Given the description of an element on the screen output the (x, y) to click on. 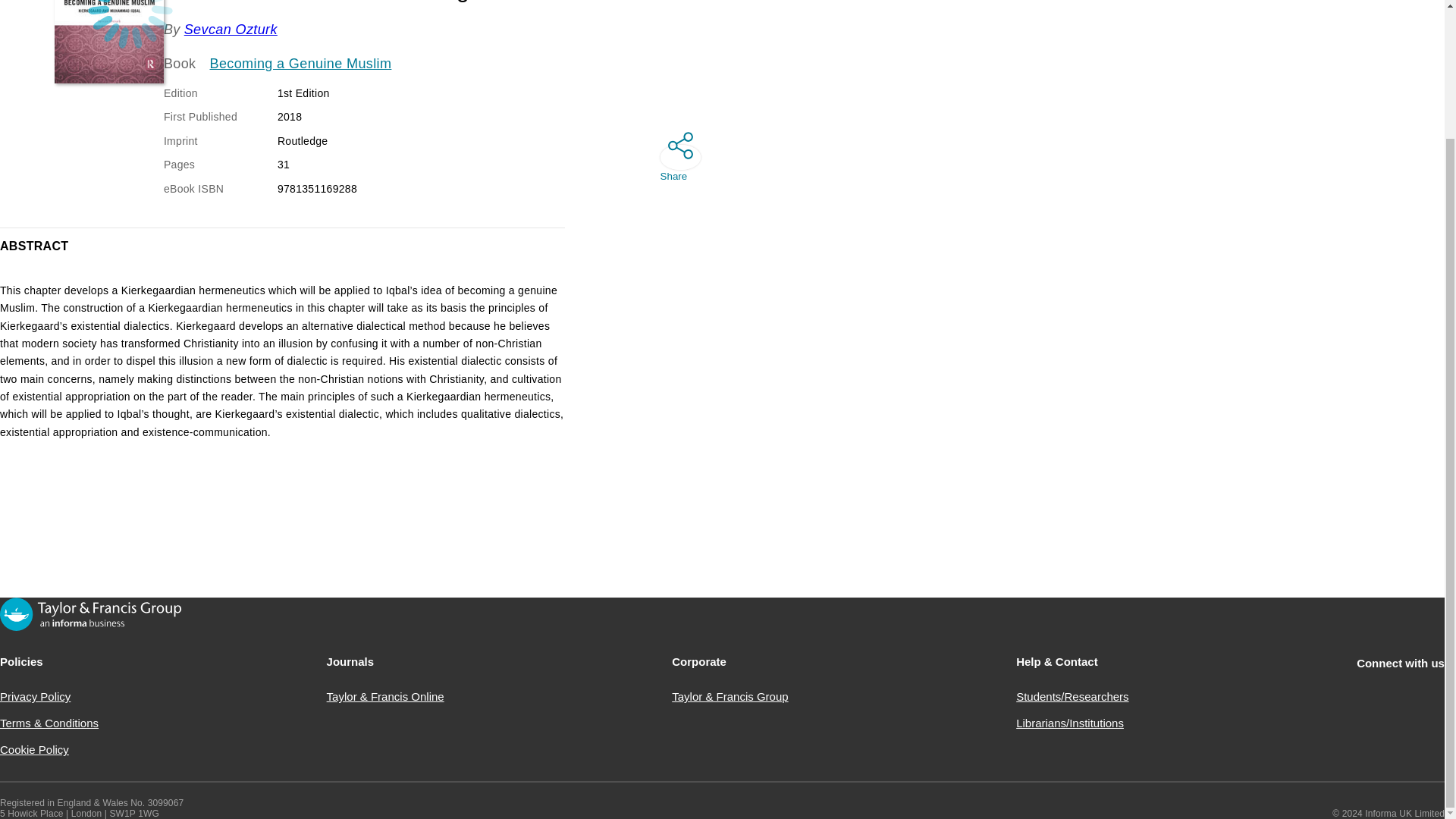
Share (674, 155)
Privacy Policy (34, 696)
The construction of a Kierkegaardian hermeneutics (109, 41)
Cookie Policy (34, 749)
Becoming a Genuine Muslim (300, 64)
Sevcan Ozturk (231, 29)
